Given the description of an element on the screen output the (x, y) to click on. 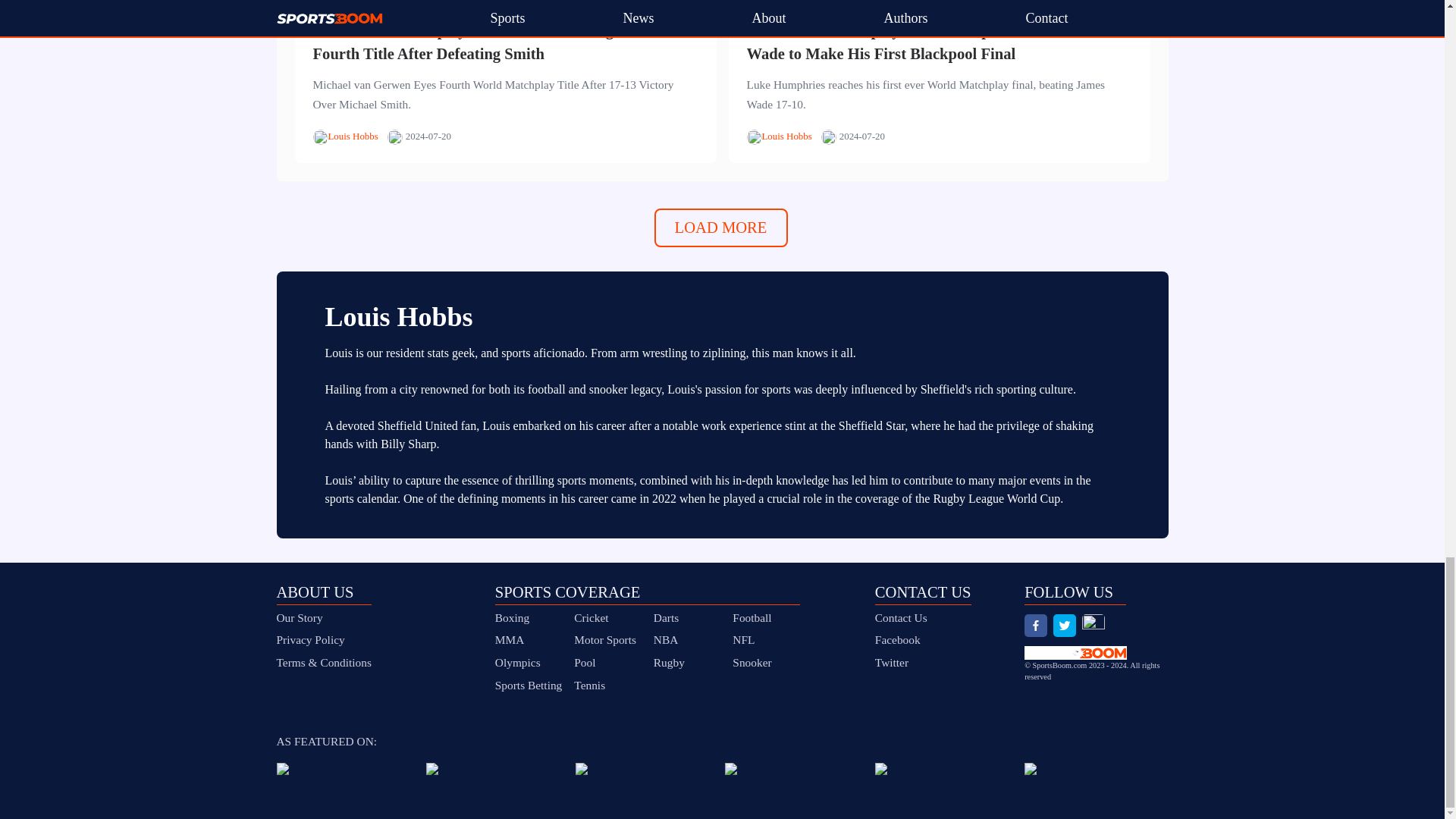
NBA (665, 639)
Tennis (589, 684)
Rugby (668, 662)
Boxing (512, 617)
Football (751, 617)
Motor Sports (604, 639)
Our Story (323, 618)
Olympics (517, 662)
Darts (665, 617)
LOAD MORE (720, 227)
NFL (743, 639)
Snooker (751, 662)
Privacy Policy (323, 639)
